Given the description of an element on the screen output the (x, y) to click on. 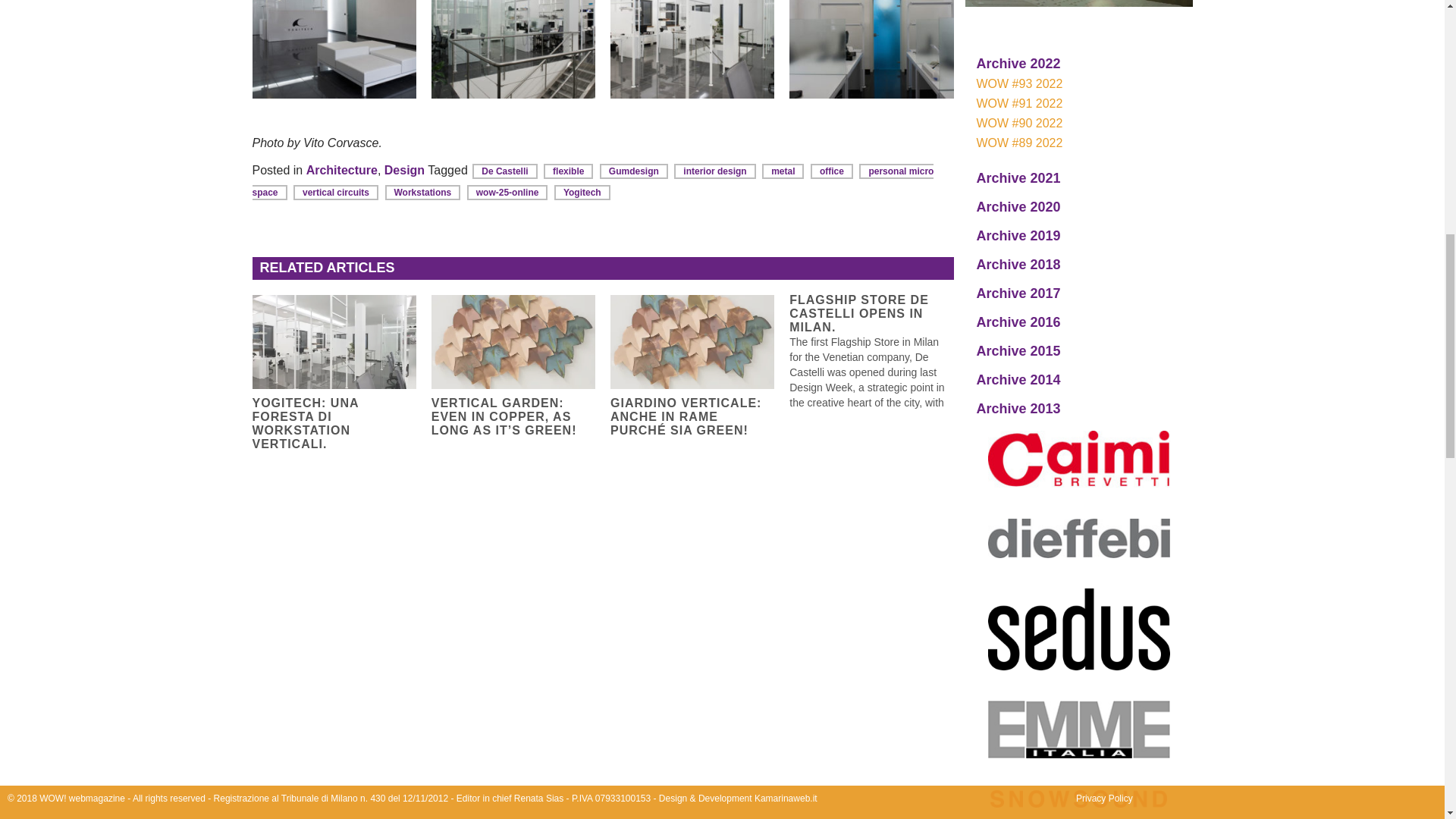
Flagship Store De Castelli opens in Milan. (878, 351)
Yogitech: una foresta di workstation verticali. (332, 341)
Flagship Store De Castelli opens in Milan. (871, 313)
Yogitech: una foresta di workstation verticali. (332, 423)
